Given the description of an element on the screen output the (x, y) to click on. 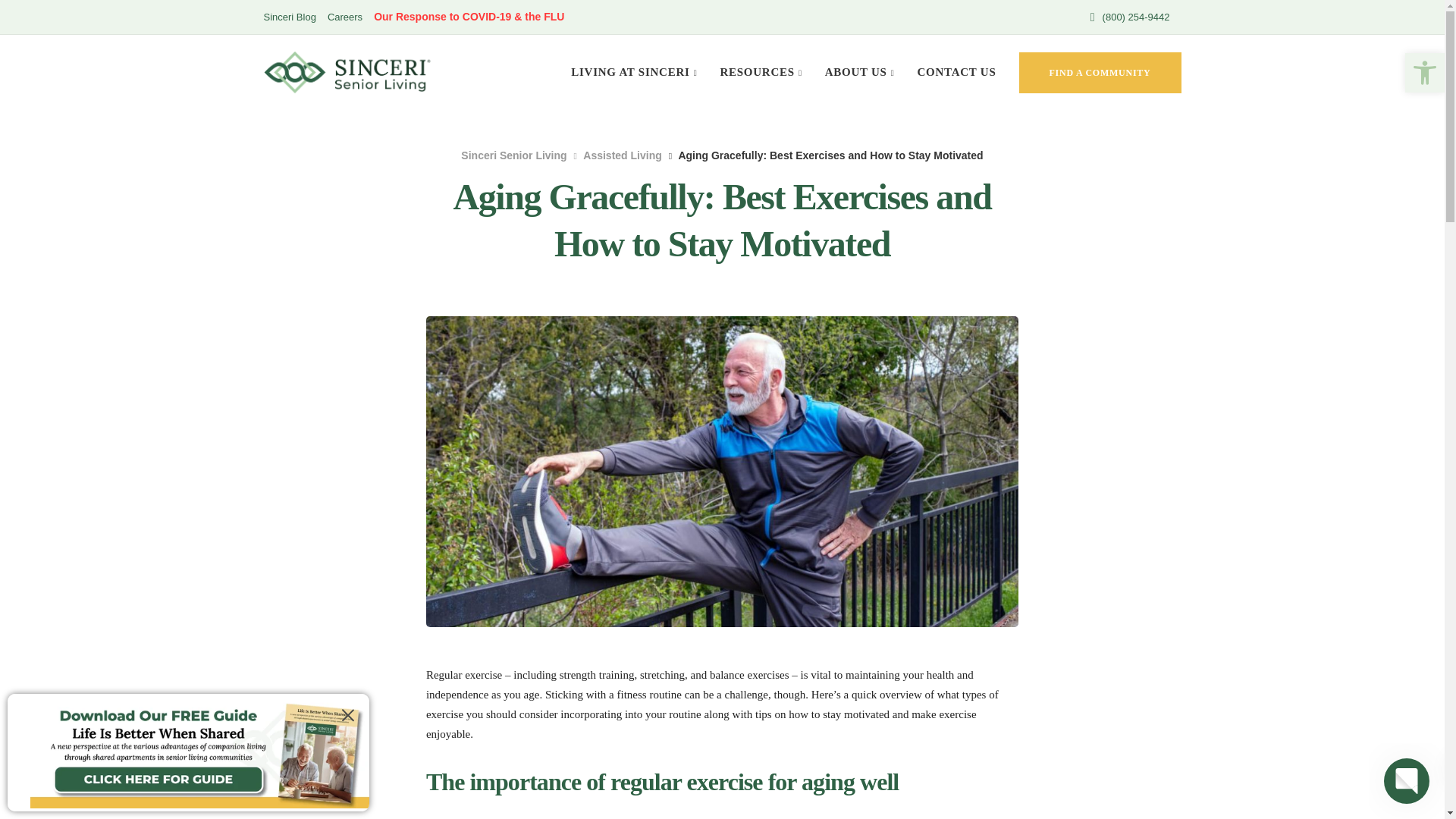
ABOUT US (859, 72)
FIND A COMMUNITY (1099, 71)
Accessibility Tools (1424, 72)
Sinceri Blog (289, 16)
RESOURCES (759, 72)
LIVING AT SINCERI (633, 72)
CONTACT US (956, 72)
Popup CTA (188, 752)
Careers (344, 16)
Go to the Assisted Living Category archives. (622, 155)
Go to Sinceri Senior Living. (513, 155)
